Given the description of an element on the screen output the (x, y) to click on. 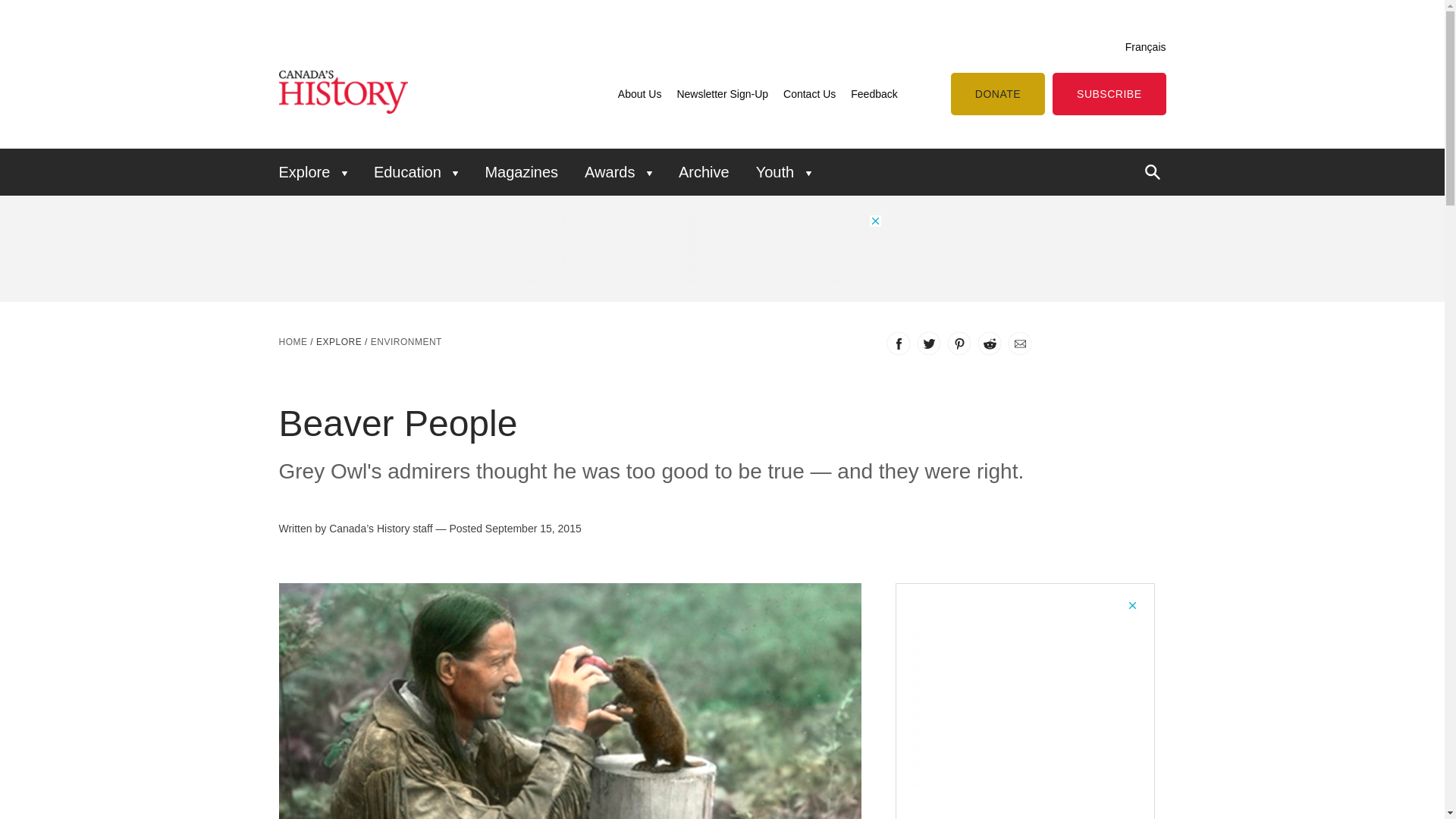
Home (293, 341)
Feedback (873, 93)
Contact Us (809, 93)
Education (416, 171)
Environment (406, 341)
DONATE (997, 93)
3rd party ad content (1001, 248)
3rd party ad content (1024, 693)
Newsletter Sign-Up (722, 93)
About Us (639, 93)
SUBSCRIBE (1109, 93)
3rd party ad content (606, 248)
search-icon (1152, 171)
Explore (318, 171)
Explore (338, 341)
